Given the description of an element on the screen output the (x, y) to click on. 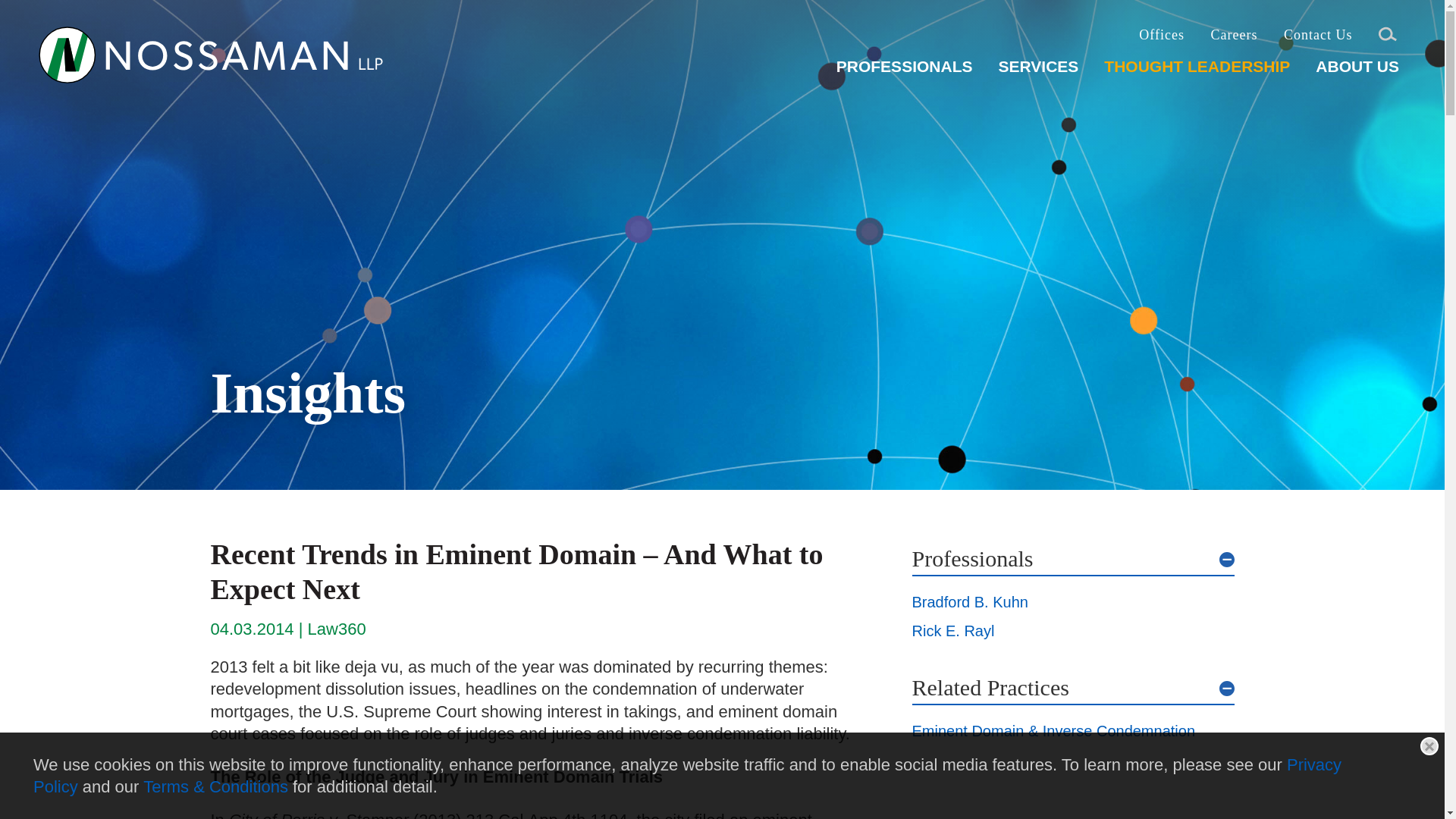
Professionals (1072, 558)
SERVICES (1037, 72)
Bradford B. Kuhn (969, 601)
Related Practices (1072, 687)
Rick E. Rayl (952, 630)
PROFESSIONALS (904, 72)
